Given the description of an element on the screen output the (x, y) to click on. 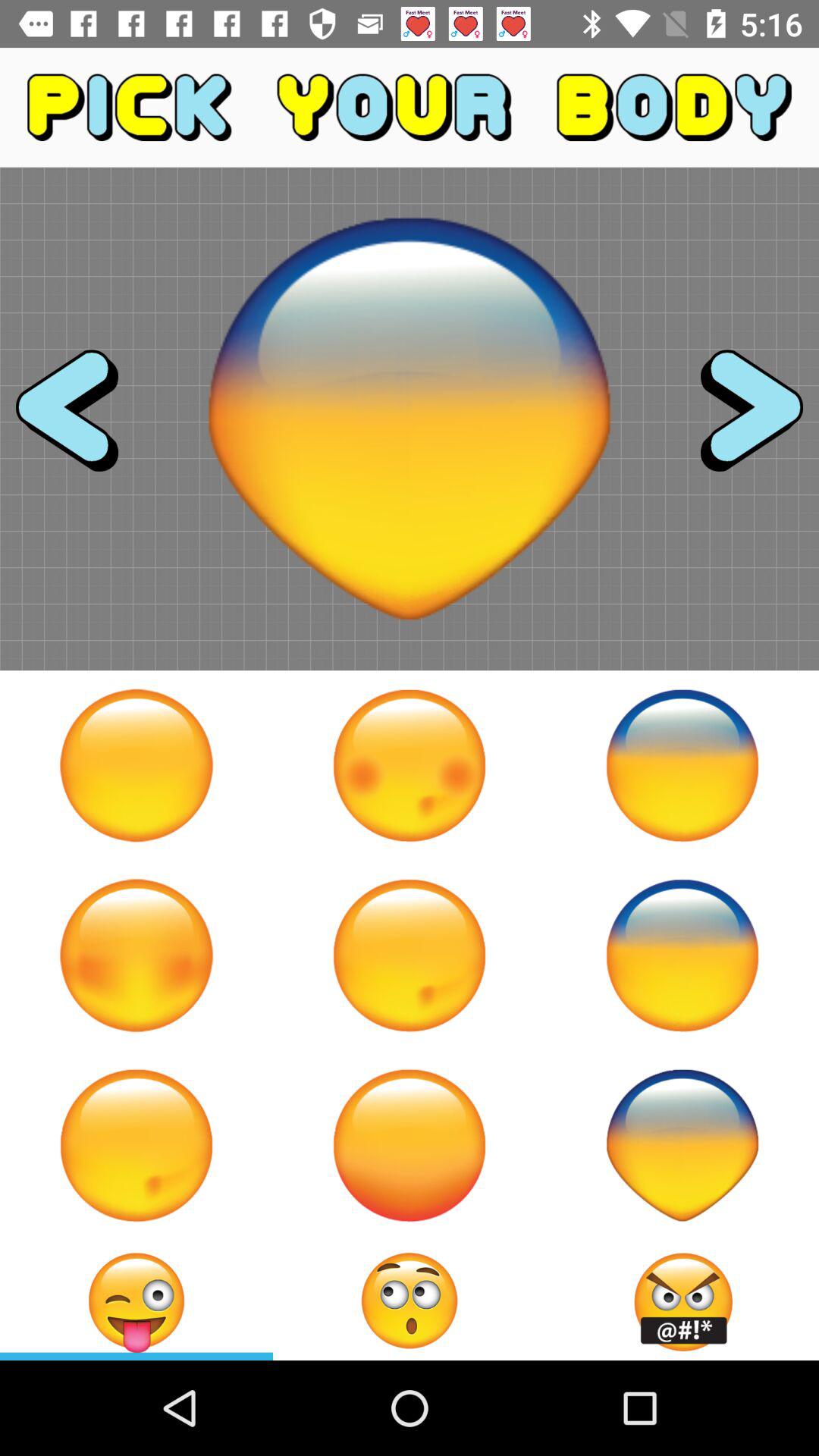
next (737, 418)
